Given the description of an element on the screen output the (x, y) to click on. 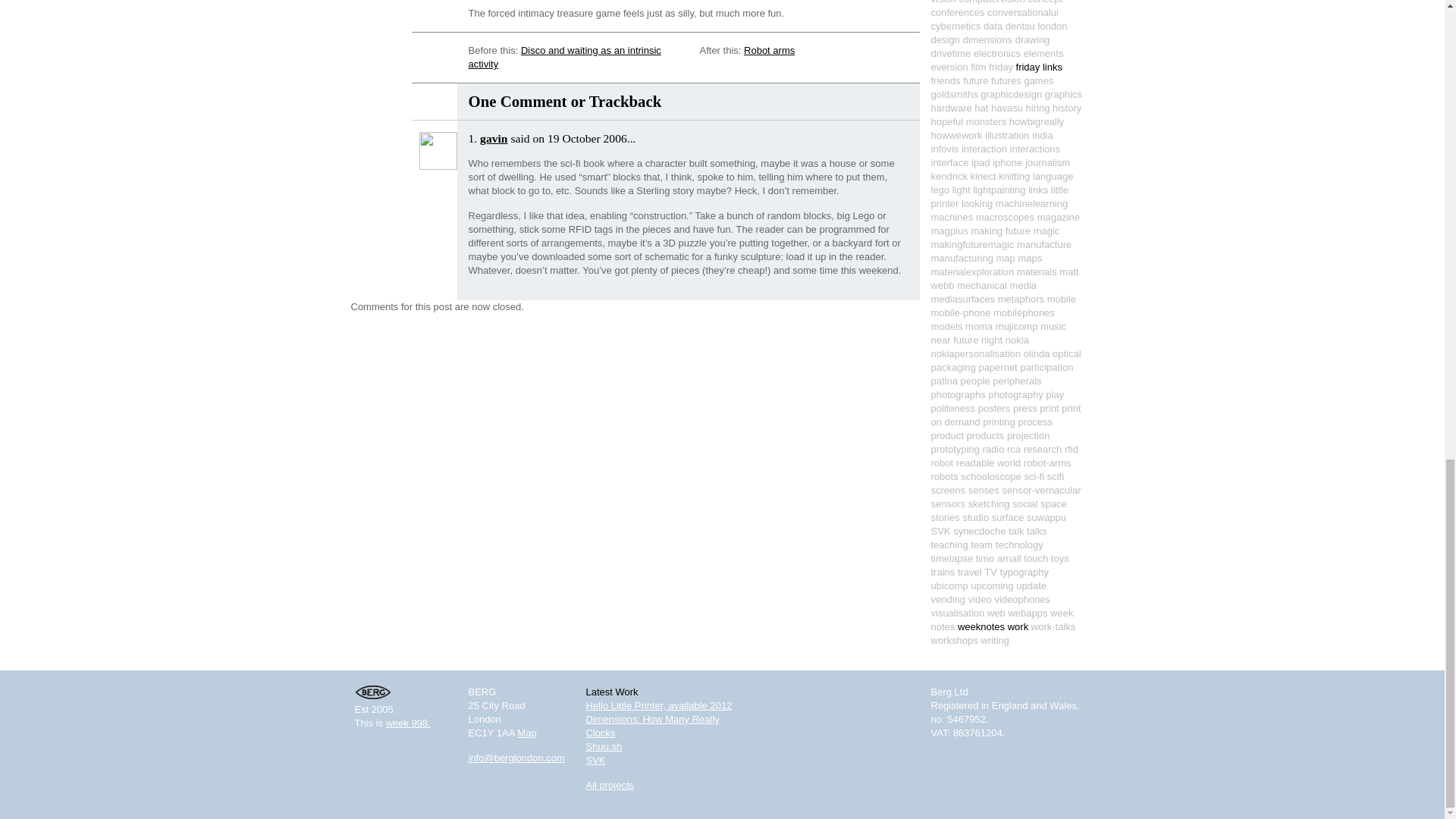
Robot arms (769, 50)
gavin (493, 137)
Disco and waiting as an intrinsic activity (564, 57)
